Given the description of an element on the screen output the (x, y) to click on. 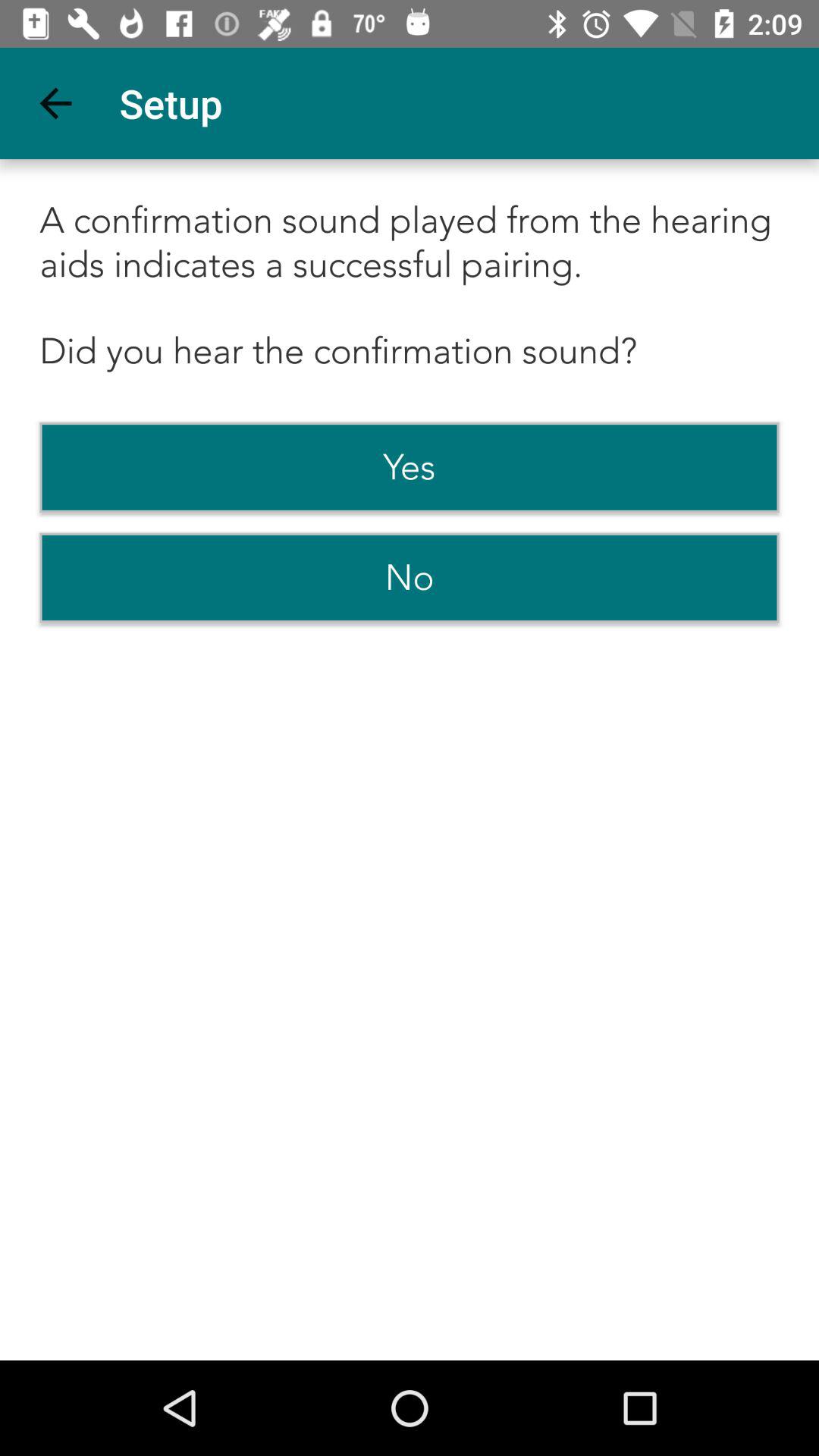
tap the yes item (409, 467)
